Given the description of an element on the screen output the (x, y) to click on. 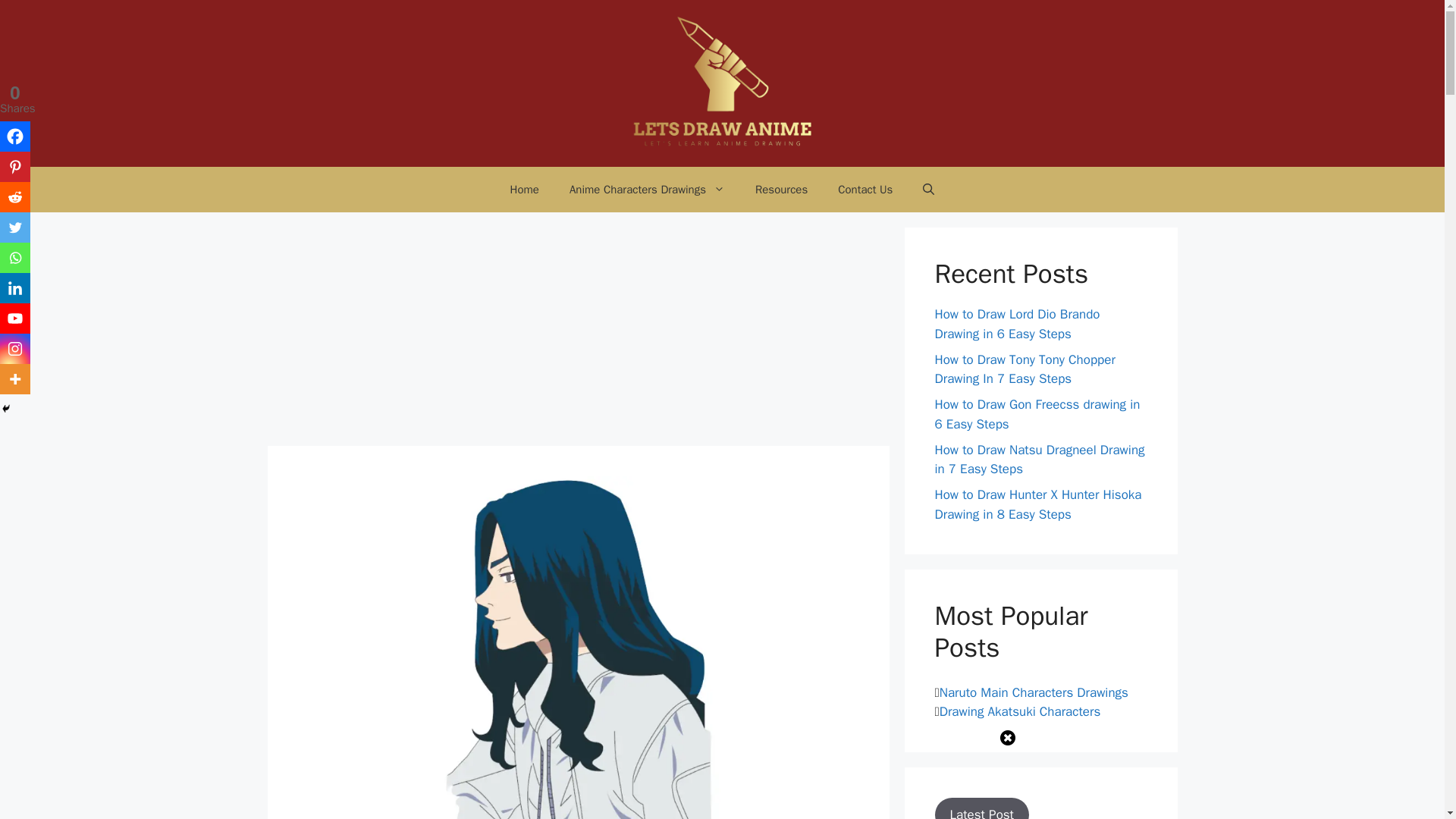
Home (524, 189)
Resources (780, 189)
Contact Us (864, 189)
Anime Characters Drawings (646, 189)
